Given the description of an element on the screen output the (x, y) to click on. 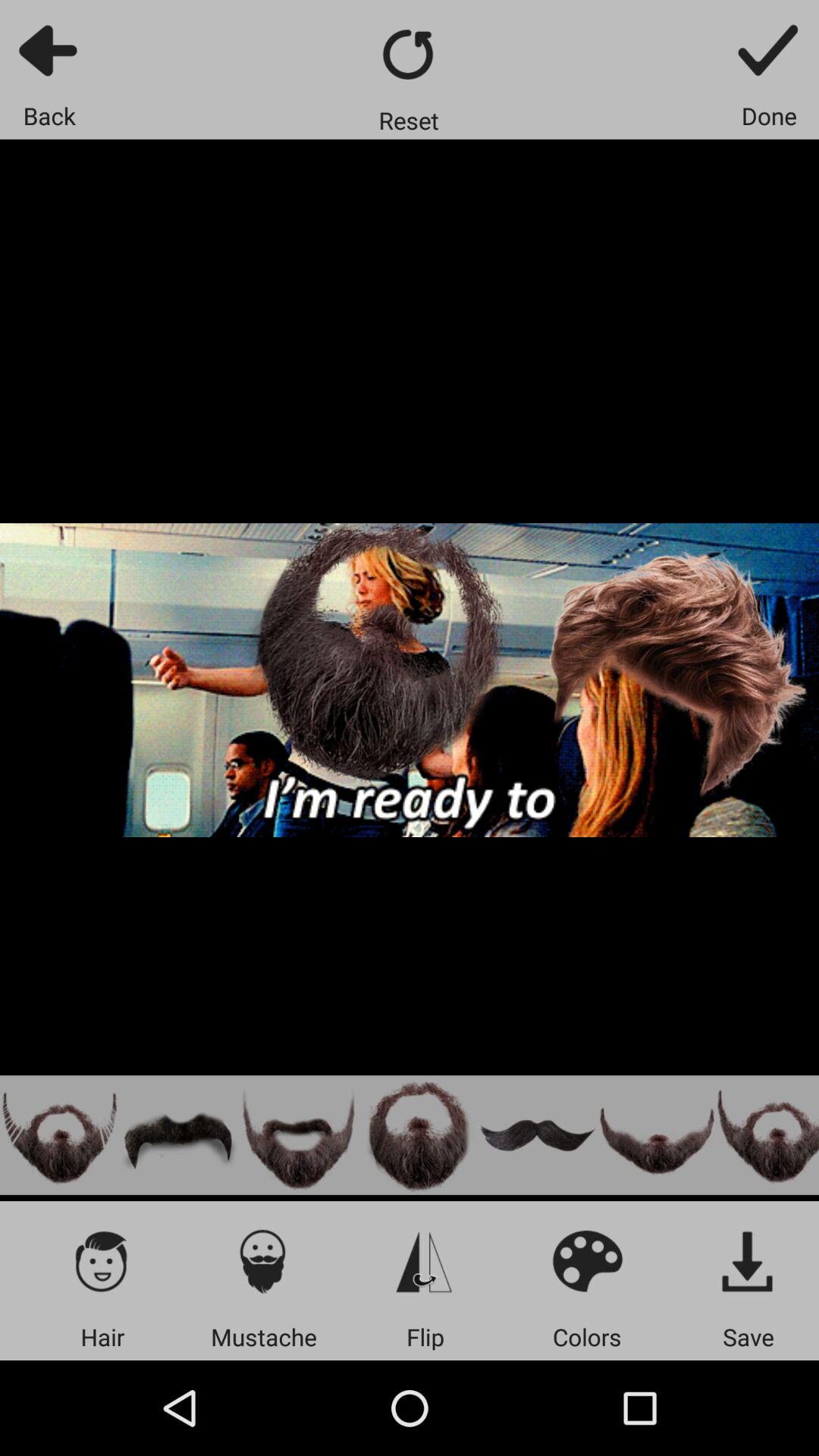
select highlighted element (59, 1134)
